Given the description of an element on the screen output the (x, y) to click on. 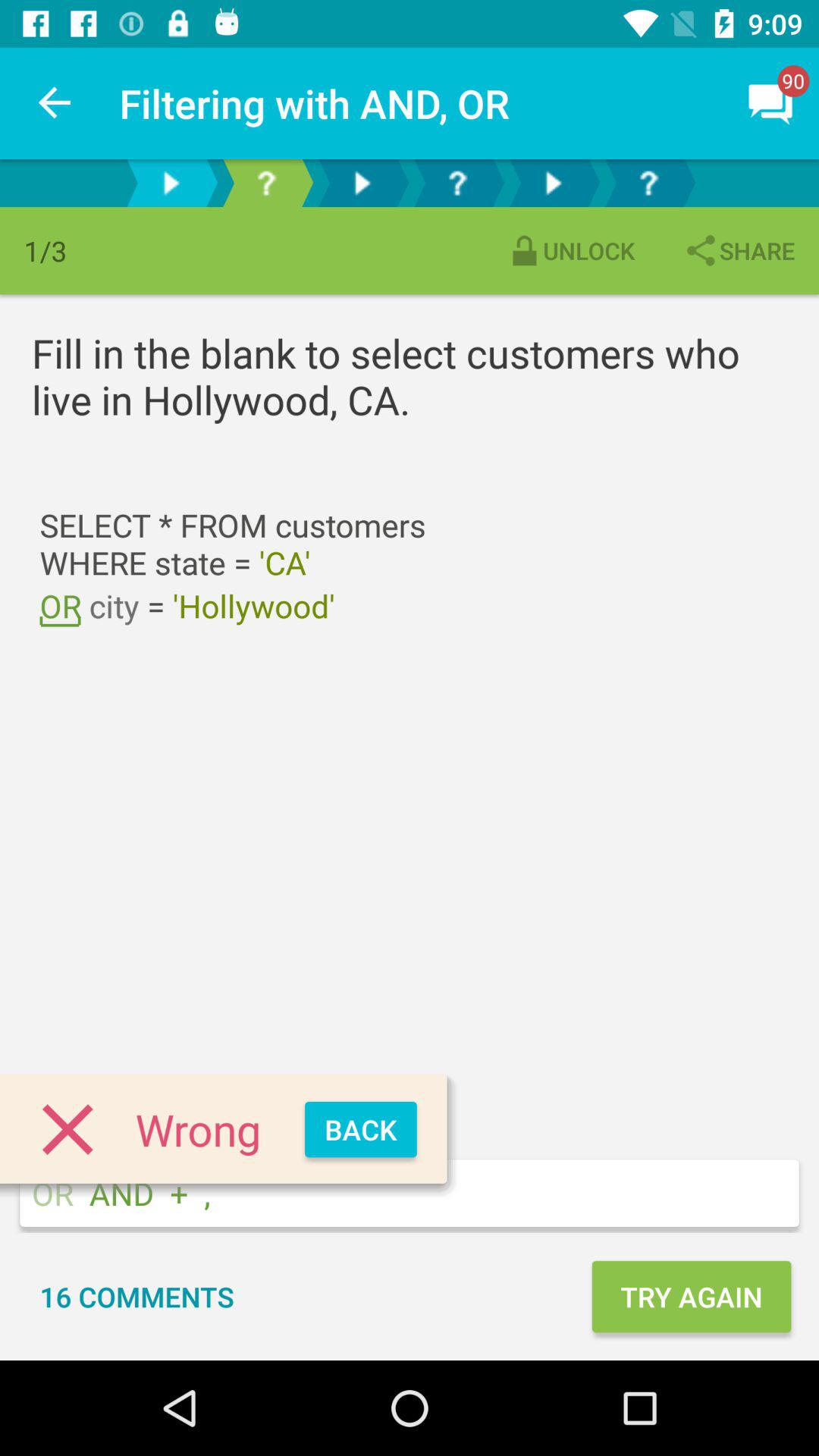
go to first page of lesson (170, 183)
